Given the description of an element on the screen output the (x, y) to click on. 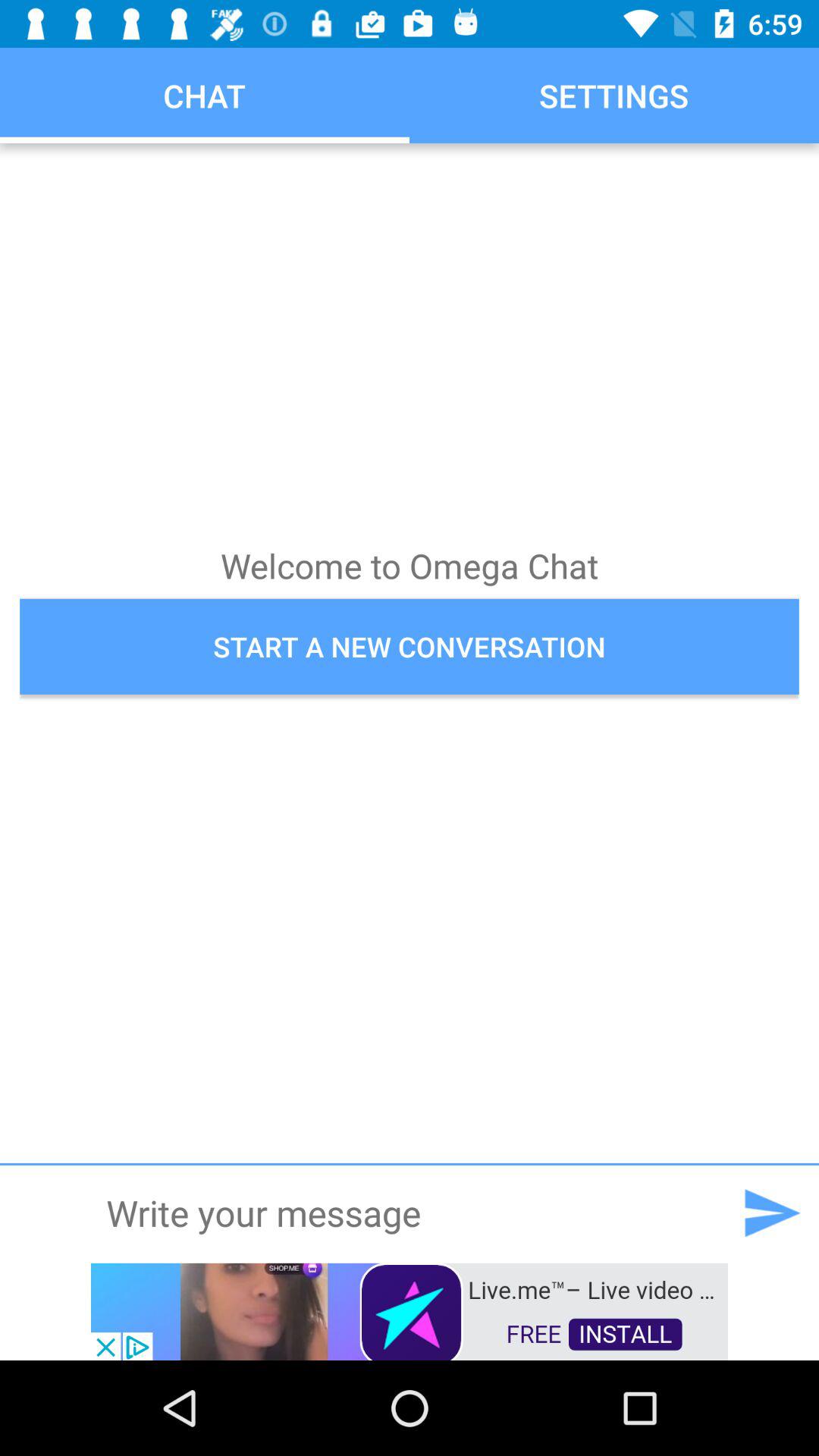
send button (771, 1212)
